Given the description of an element on the screen output the (x, y) to click on. 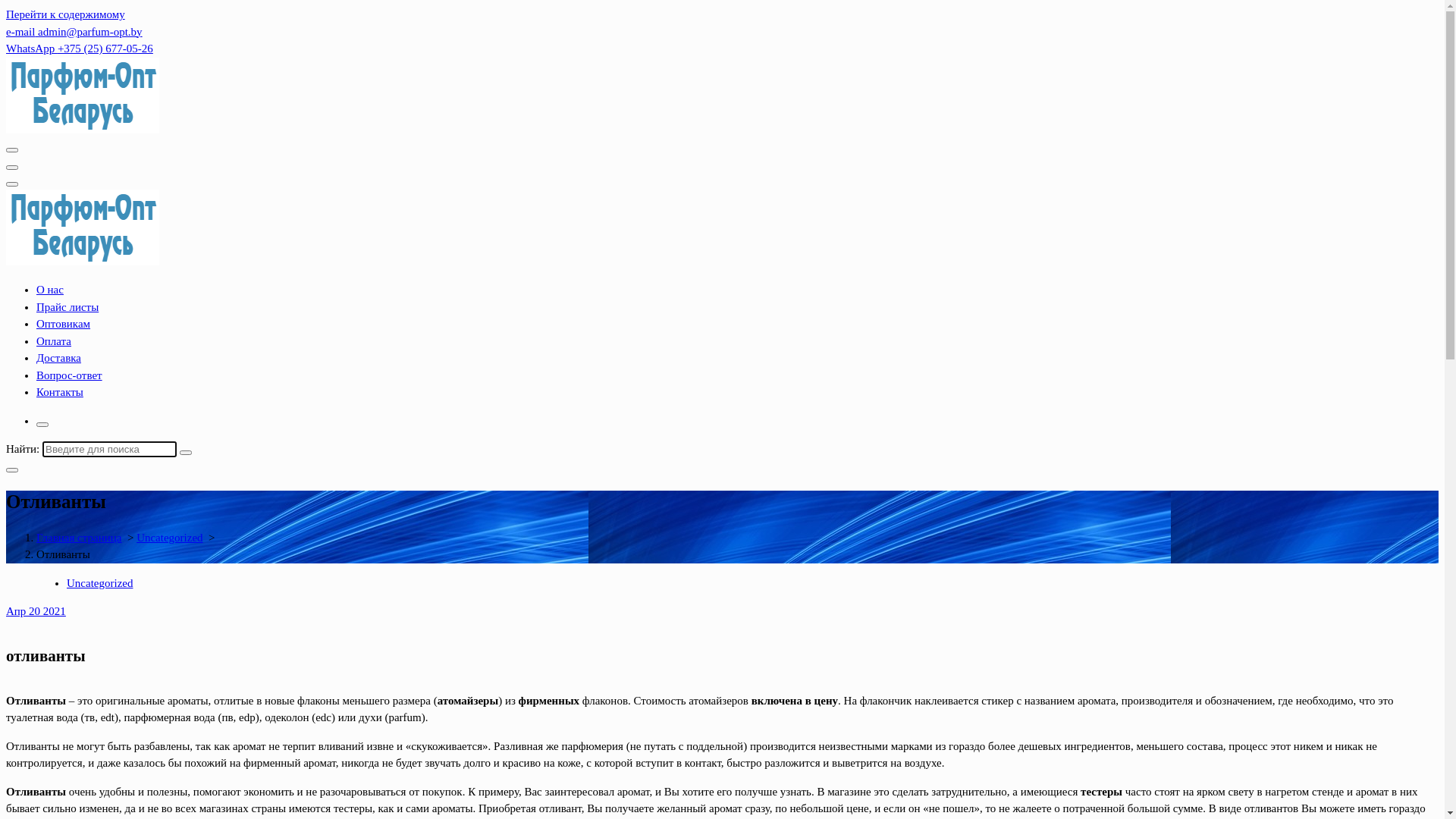
e-mail admin@parfum-opt.by Element type: text (74, 31)
Uncategorized Element type: text (169, 536)
Uncategorized Element type: text (99, 582)
WhatsApp +375 (25) 677-05-26 Element type: text (79, 48)
